Given the description of an element on the screen output the (x, y) to click on. 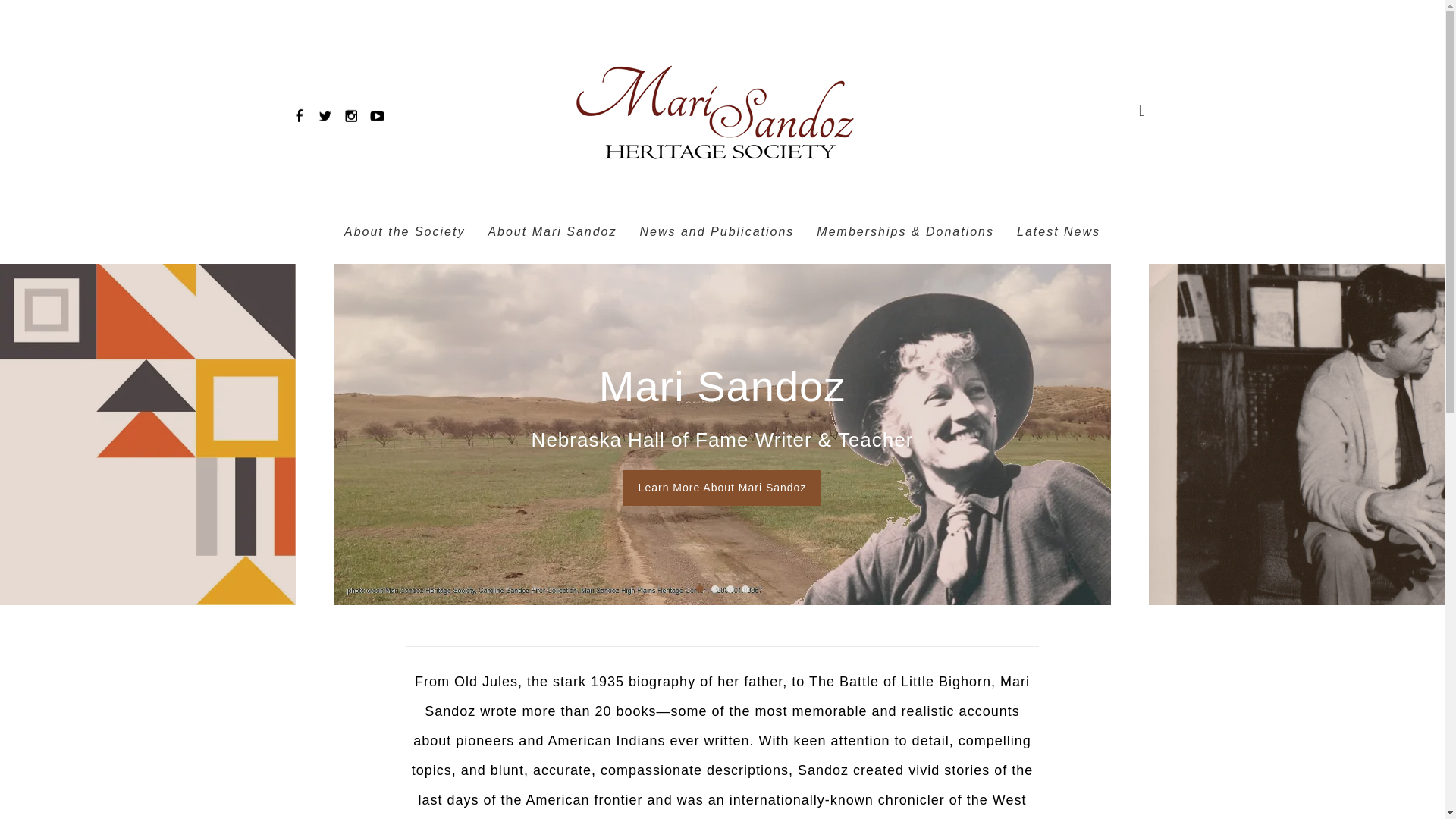
logo (718, 111)
